Given the description of an element on the screen output the (x, y) to click on. 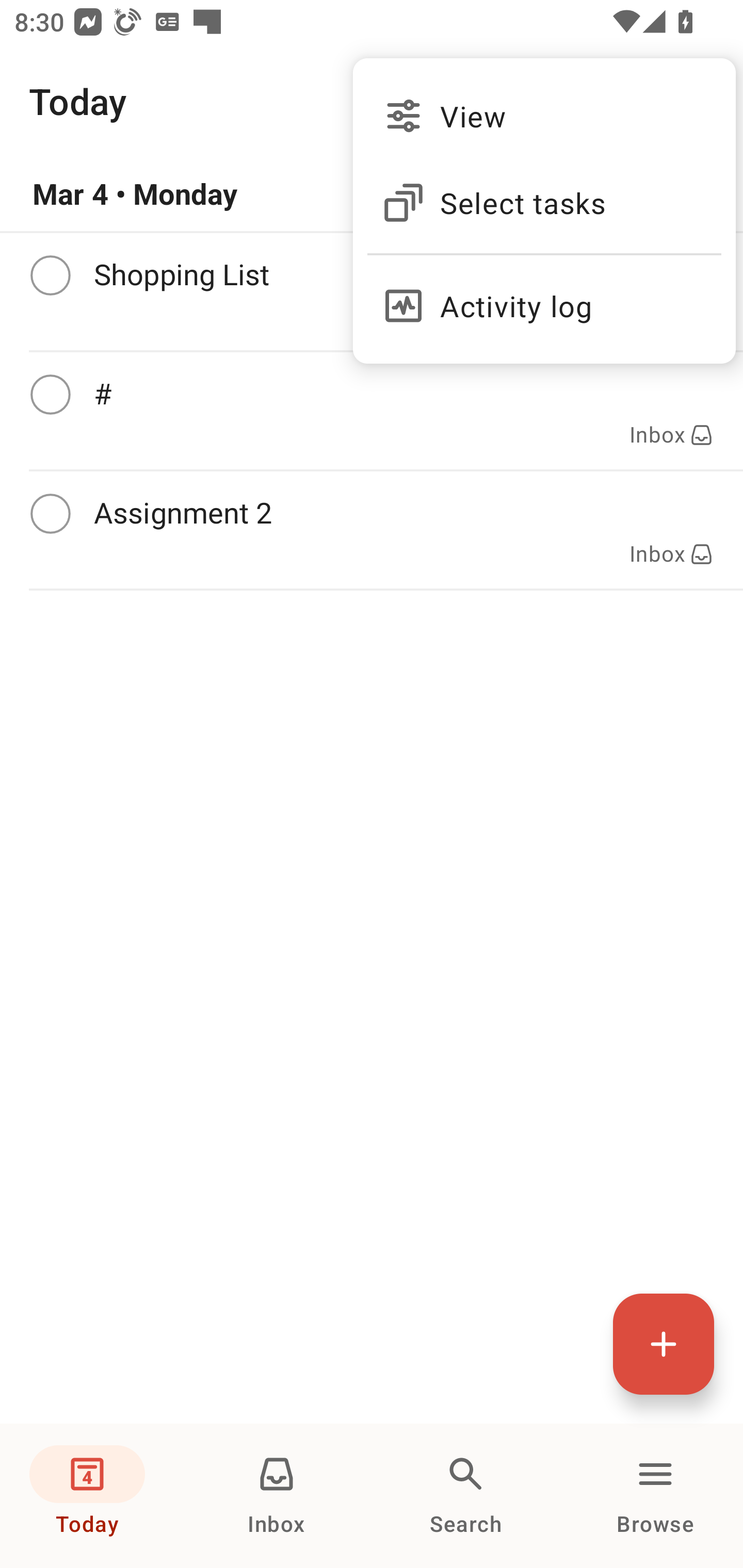
View (544, 115)
Select tasks (544, 202)
Activity log (544, 297)
